Given the description of an element on the screen output the (x, y) to click on. 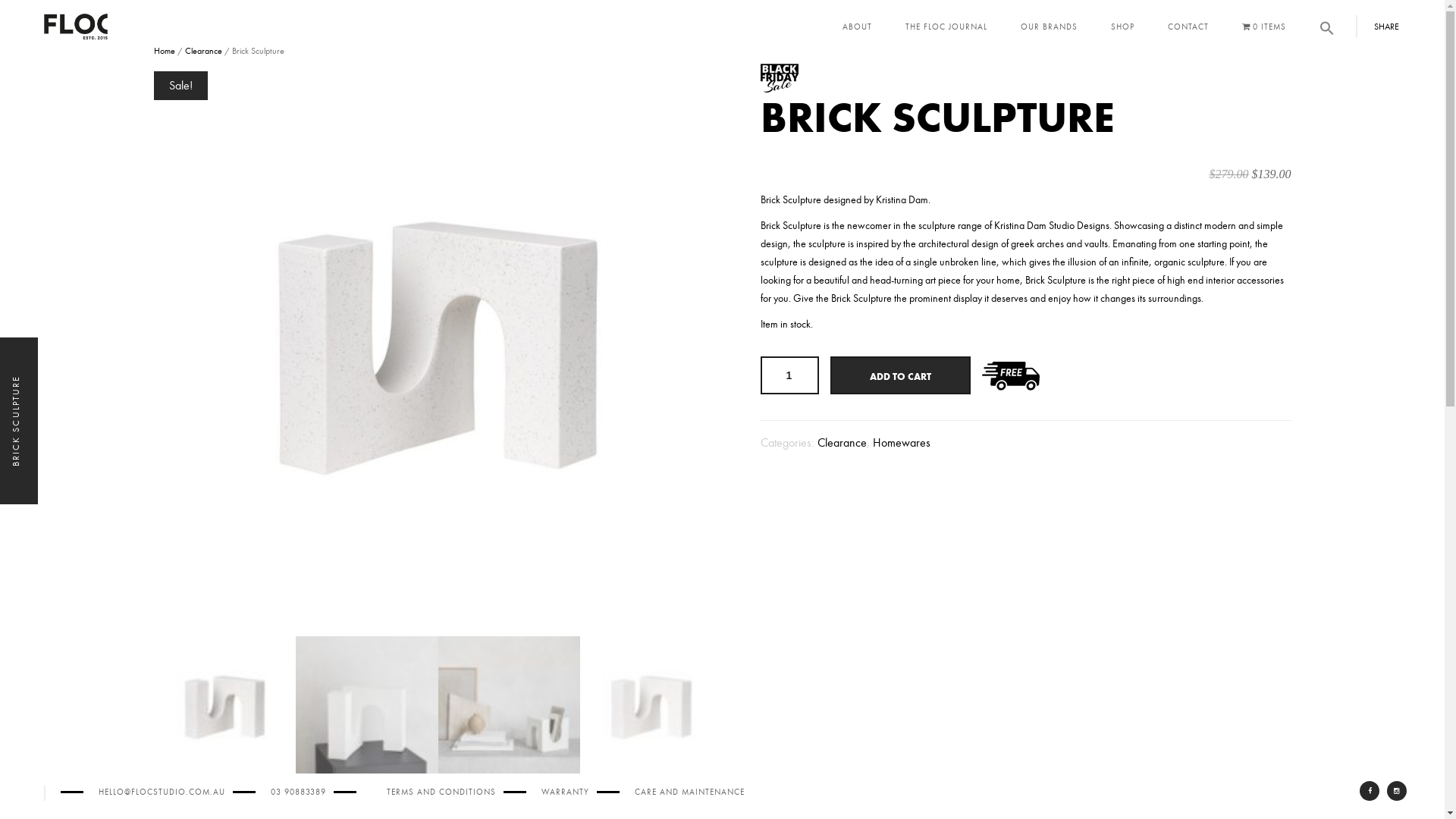
OUR BRANDS Element type: text (1049, 26)
SHOP Element type: text (1122, 26)
Clearance Element type: text (203, 50)
Homewares Element type: text (900, 442)
THE FLOC JOURNAL Element type: text (946, 26)
03 90883389 Element type: text (298, 792)
TERMS AND CONDITIONS Element type: text (441, 792)
HELLO@FLOCSTUDIO.COM.AU Element type: text (161, 792)
115500200_1100x Element type: hover (437, 347)
CARE AND MAINTENANCE Element type: text (689, 792)
Clearance Element type: text (841, 442)
ADD TO CART Element type: text (899, 375)
0 ITEMS Element type: text (1263, 26)
WARRANTY Element type: text (564, 792)
ABOUT Element type: text (856, 26)
CONTACT Element type: text (1188, 26)
Home Element type: text (163, 50)
